Given the description of an element on the screen output the (x, y) to click on. 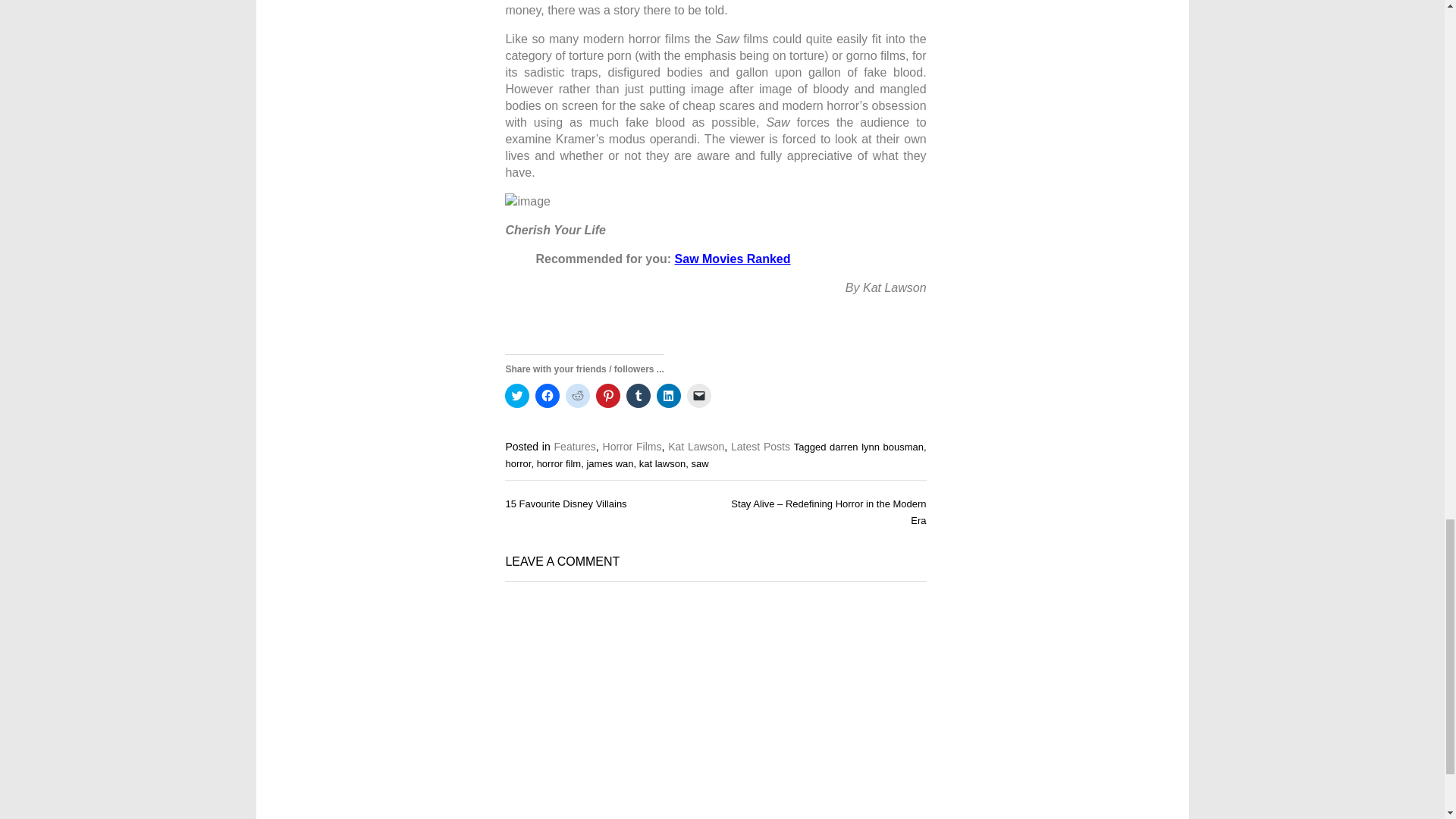
Click to share on LinkedIn (668, 395)
Click to share on Pinterest (607, 395)
Click to share on Facebook (547, 395)
Click to email a link to a friend (699, 395)
Saw Movies Ranked (732, 258)
Comment Form (715, 705)
Click to share on Tumblr (638, 395)
Click to share on Twitter (517, 395)
Click to share on Reddit (577, 395)
